Given the description of an element on the screen output the (x, y) to click on. 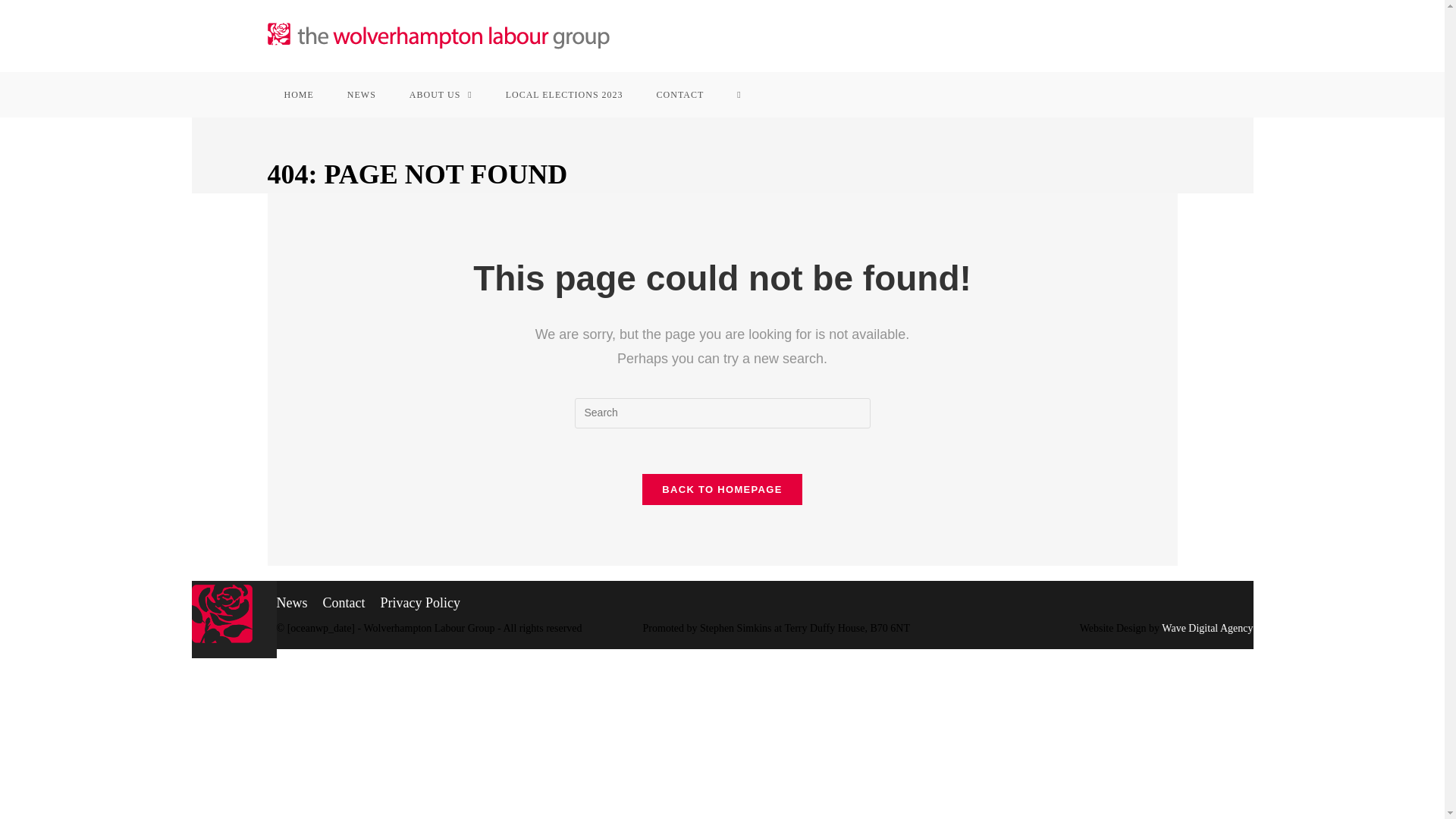
LOCAL ELECTIONS 2023 (564, 94)
Wave Digital Agency (1206, 627)
Wave Digital Agency (1206, 627)
CONTACT (680, 94)
Contact (344, 602)
HOME (298, 94)
ABOUT US (441, 94)
BACK TO HOMEPAGE (722, 489)
NEWS (361, 94)
Privacy Policy (420, 602)
News (291, 602)
